Given the description of an element on the screen output the (x, y) to click on. 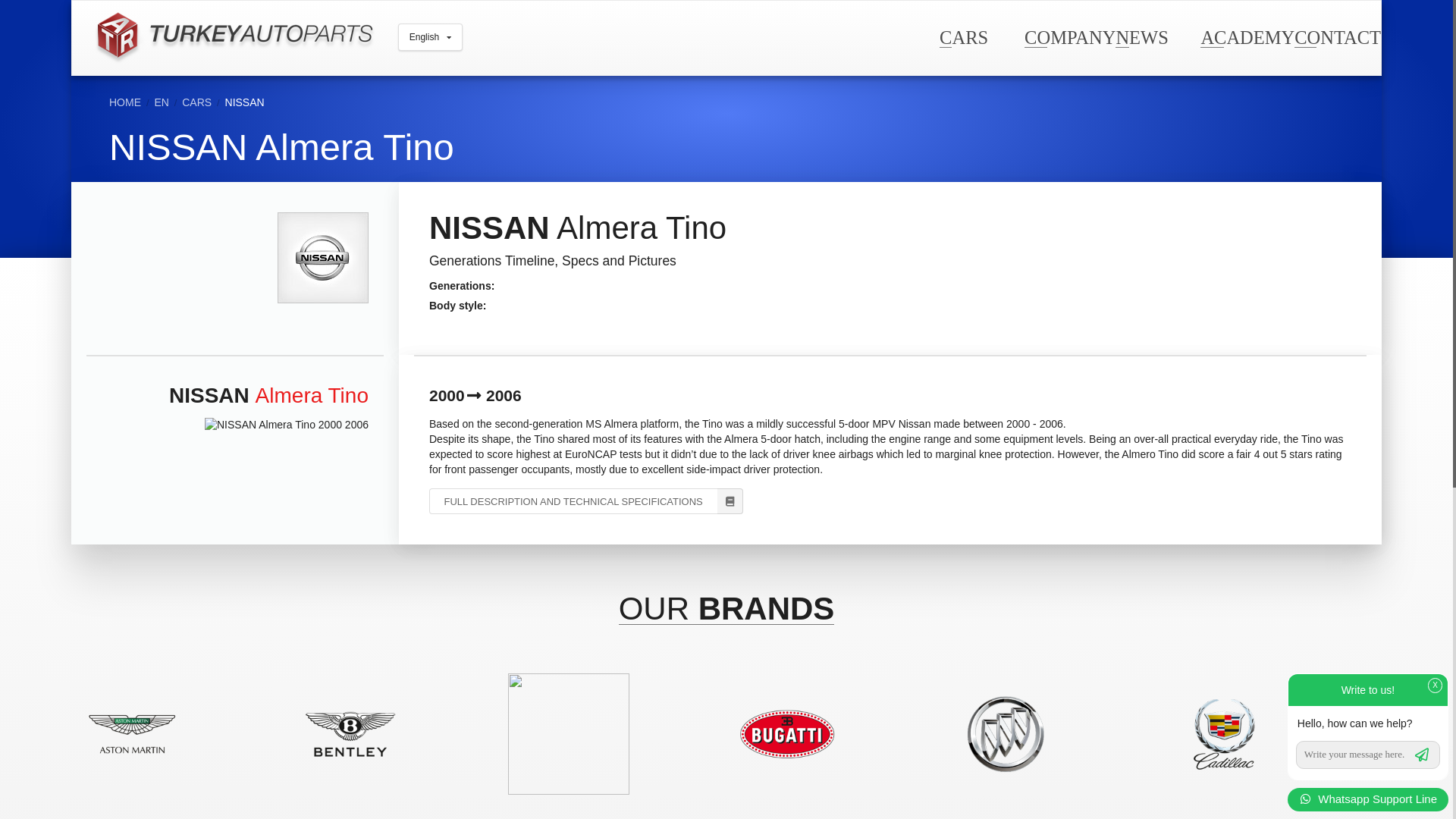
CARS (196, 102)
NISSAN (244, 102)
HOME (125, 102)
EN (161, 102)
ACADEMY (1246, 37)
CONTACT (1337, 37)
COMPANY (1070, 37)
FULL DESCRIPTION AND TECHNICAL SPECIFICATIONS (585, 500)
NEWS (1141, 37)
CARS (963, 37)
